Given the description of an element on the screen output the (x, y) to click on. 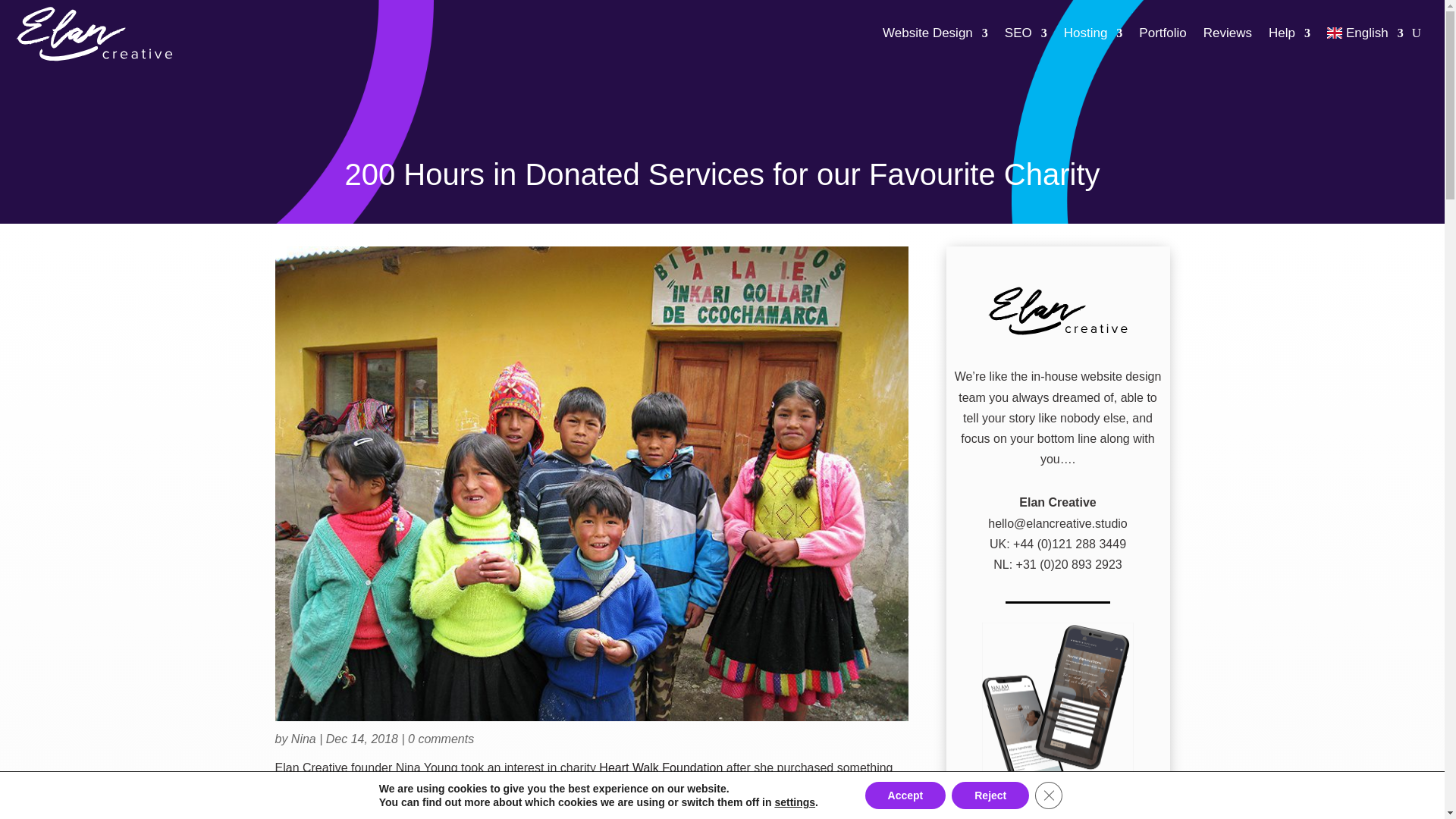
English (1364, 33)
Posts by Nina (303, 738)
Website Design (935, 33)
Hosting (1093, 33)
Elan-Creative-Logo-BLK (1058, 310)
